Given the description of an element on the screen output the (x, y) to click on. 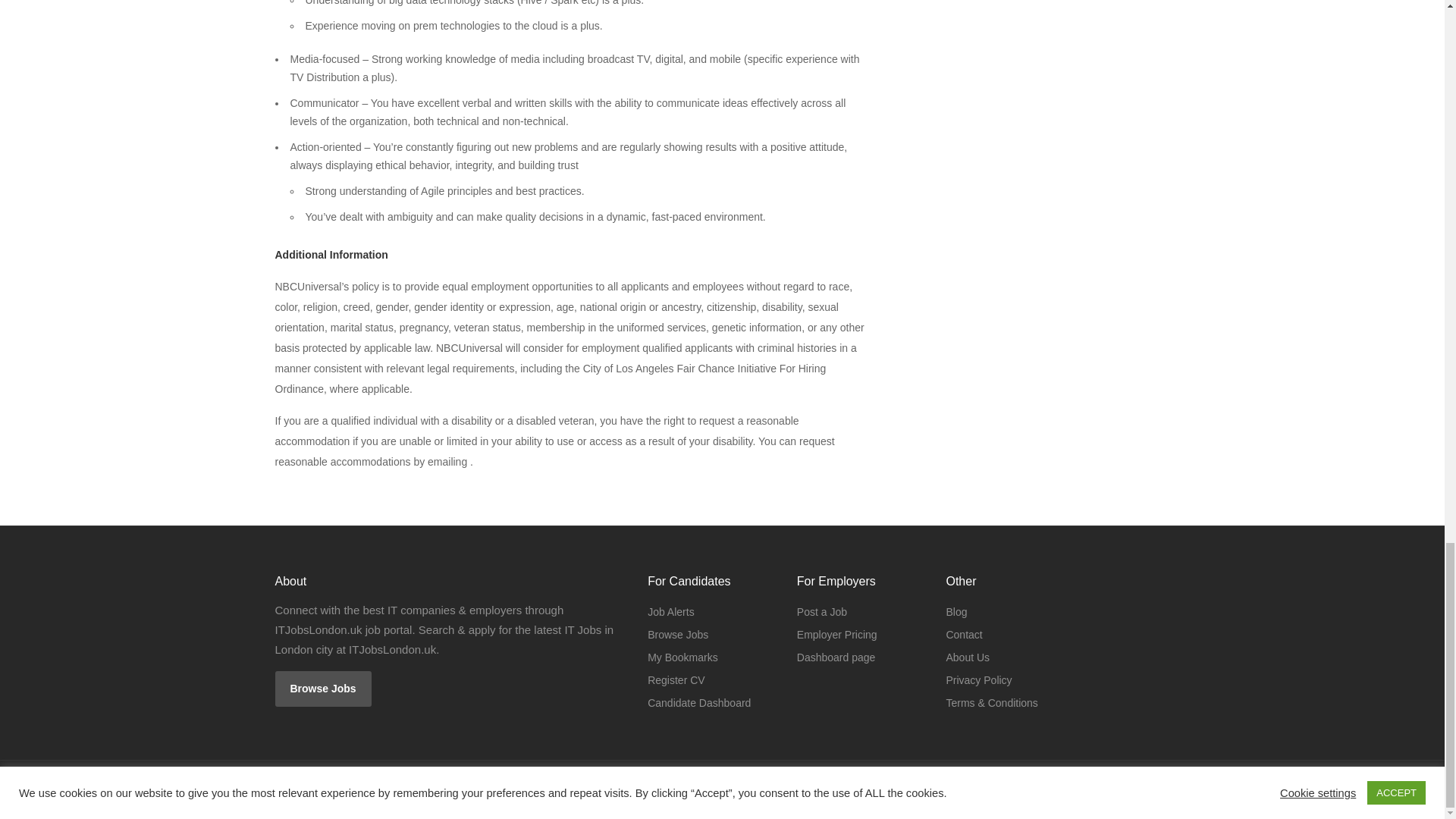
Job Alerts (670, 611)
About Us (967, 657)
Browse Jobs (677, 634)
Browse Jobs (323, 688)
Dashboard page (836, 657)
My Bookmarks (682, 657)
Contact (962, 634)
Privacy Policy (977, 680)
Candidate Dashboard (699, 702)
Post a Job (821, 611)
